Given the description of an element on the screen output the (x, y) to click on. 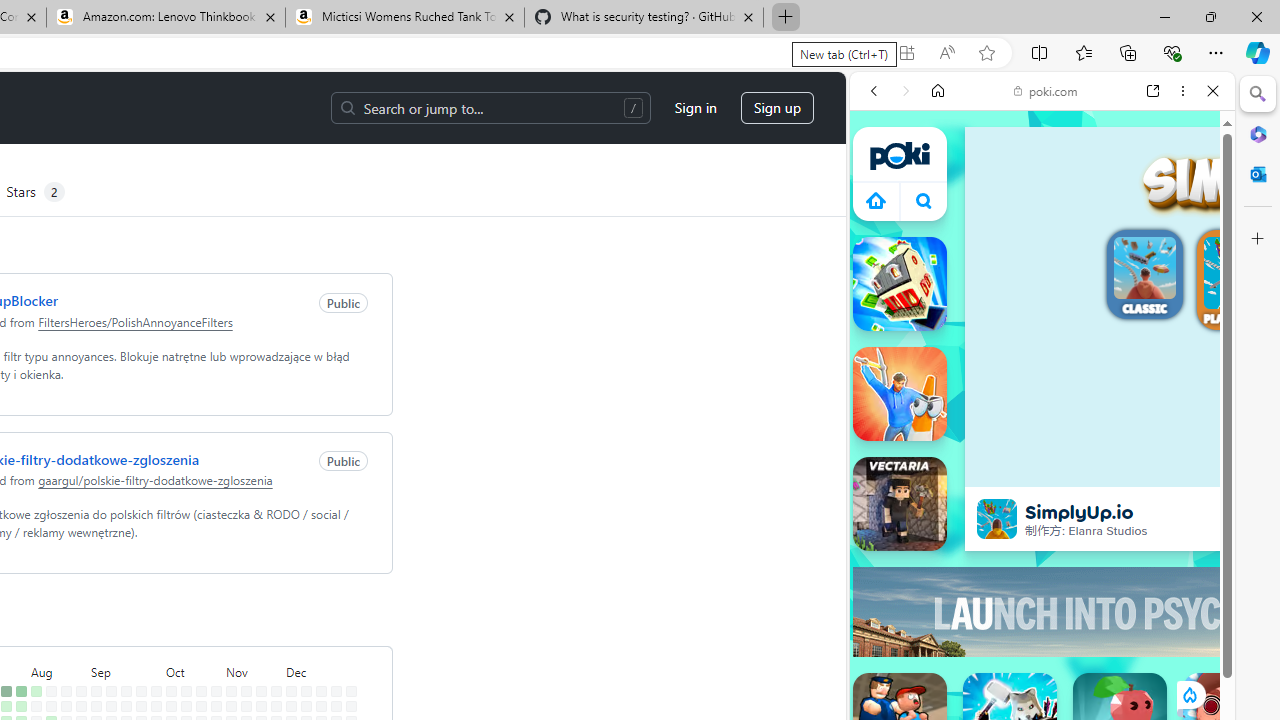
Sports Games (1042, 665)
No contributions on October 6th. (171, 691)
Web scope (882, 180)
Car Games (1042, 469)
December (321, 670)
No contributions on October 13th. (186, 691)
No contributions on September 22nd. (141, 691)
No contributions on December 29th. (351, 691)
No contributions on December 23rd. (336, 706)
Car Games (1042, 470)
No contributions on August 11th. (51, 691)
Search Filter, Search Tools (1093, 228)
Show More Two Player Games (1164, 570)
